Given the description of an element on the screen output the (x, y) to click on. 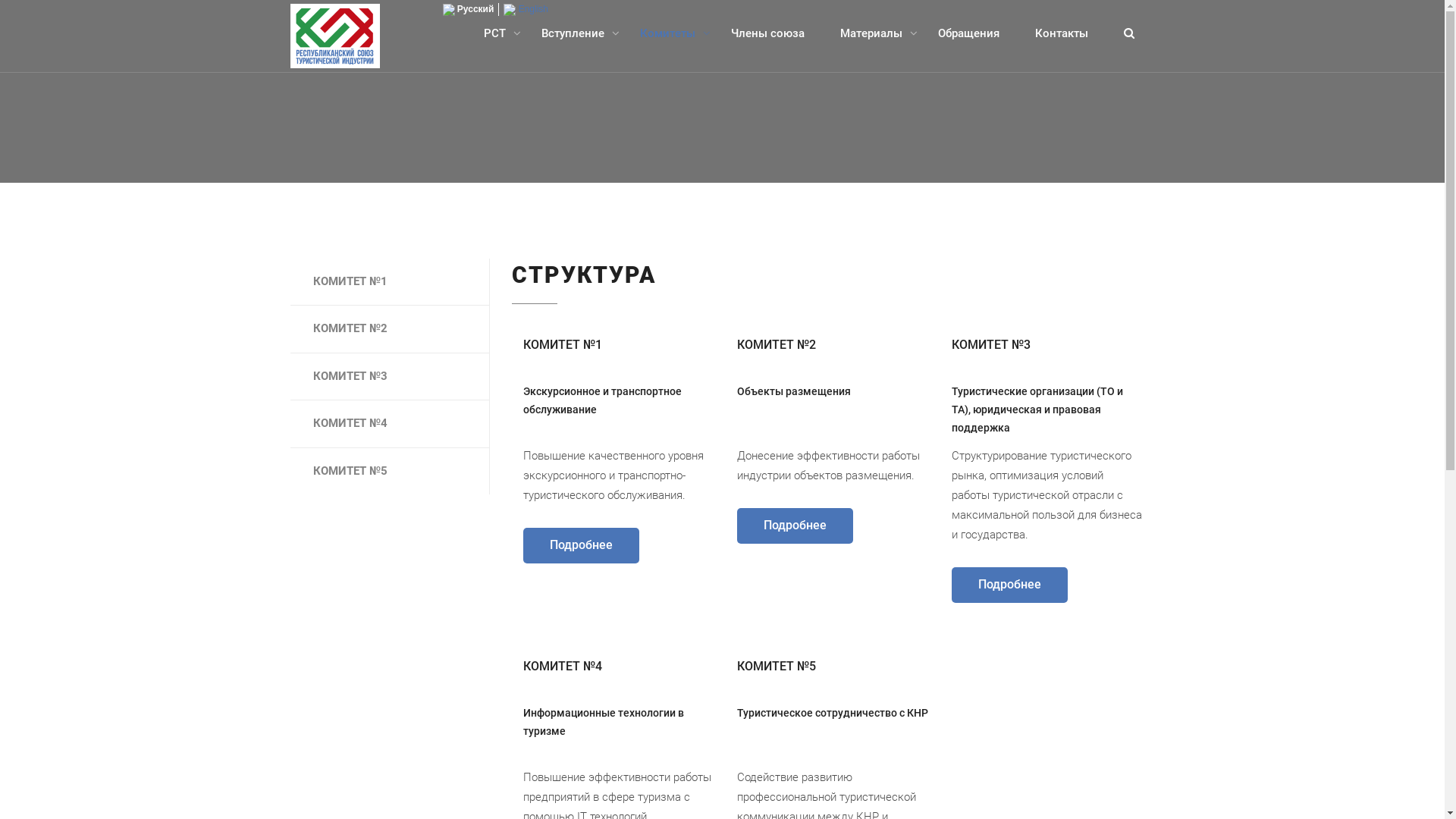
08.11.2023 Element type: text (761, 554)
English Element type: text (525, 8)
info@rsti.by Element type: text (1025, 586)
14.11.2023 Element type: text (761, 461)
